Given the description of an element on the screen output the (x, y) to click on. 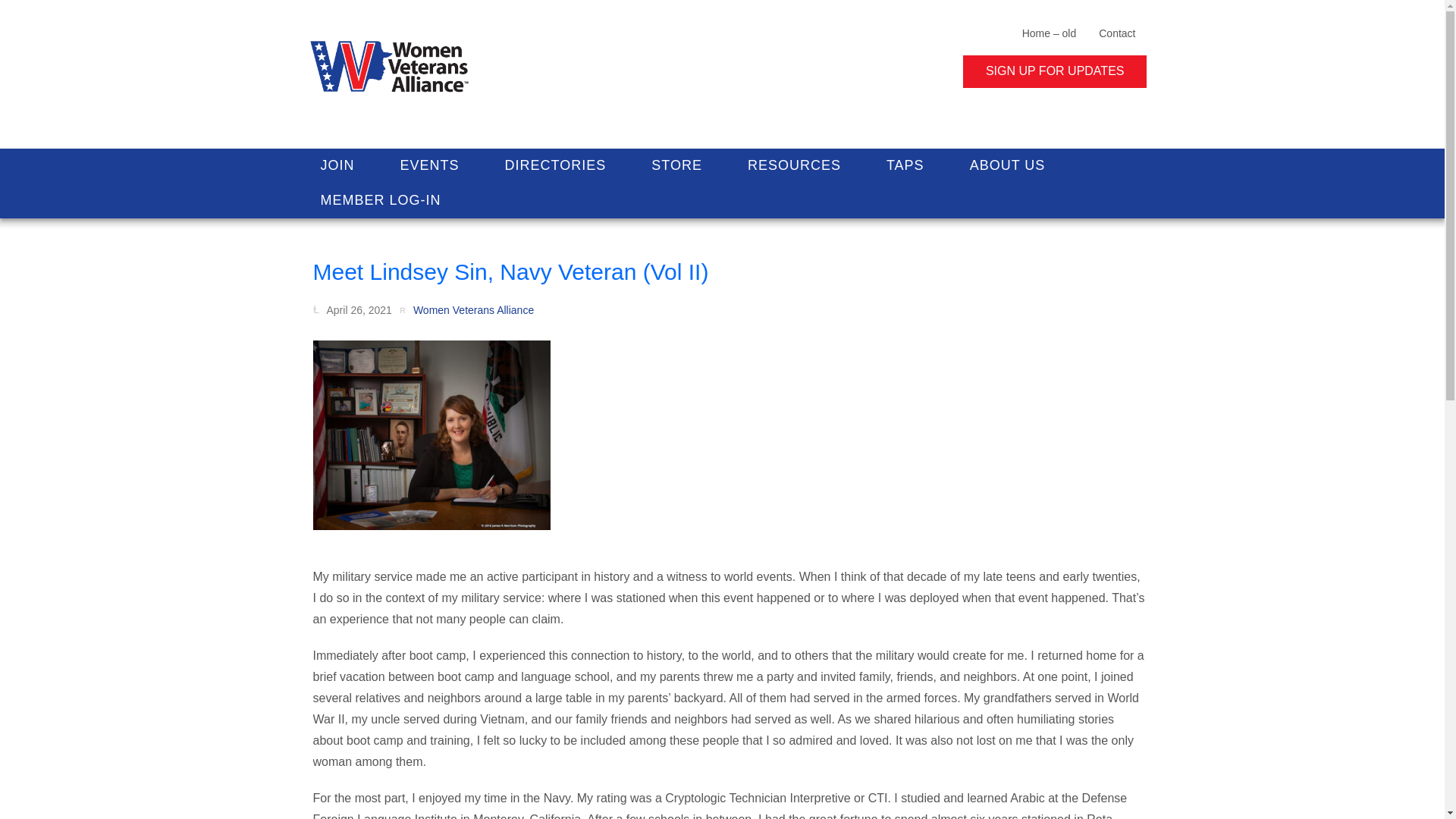
Contact (1117, 32)
MEMBER LOG-IN (380, 200)
SIGN UP FOR UPDATES (1054, 71)
DIRECTORIES (554, 165)
View all posts by Women Veterans Alliance (466, 309)
ABOUT US (1007, 165)
RESOURCES (794, 165)
Women Veterans Alliance (466, 309)
STORE (676, 165)
EVENTS (429, 165)
